Given the description of an element on the screen output the (x, y) to click on. 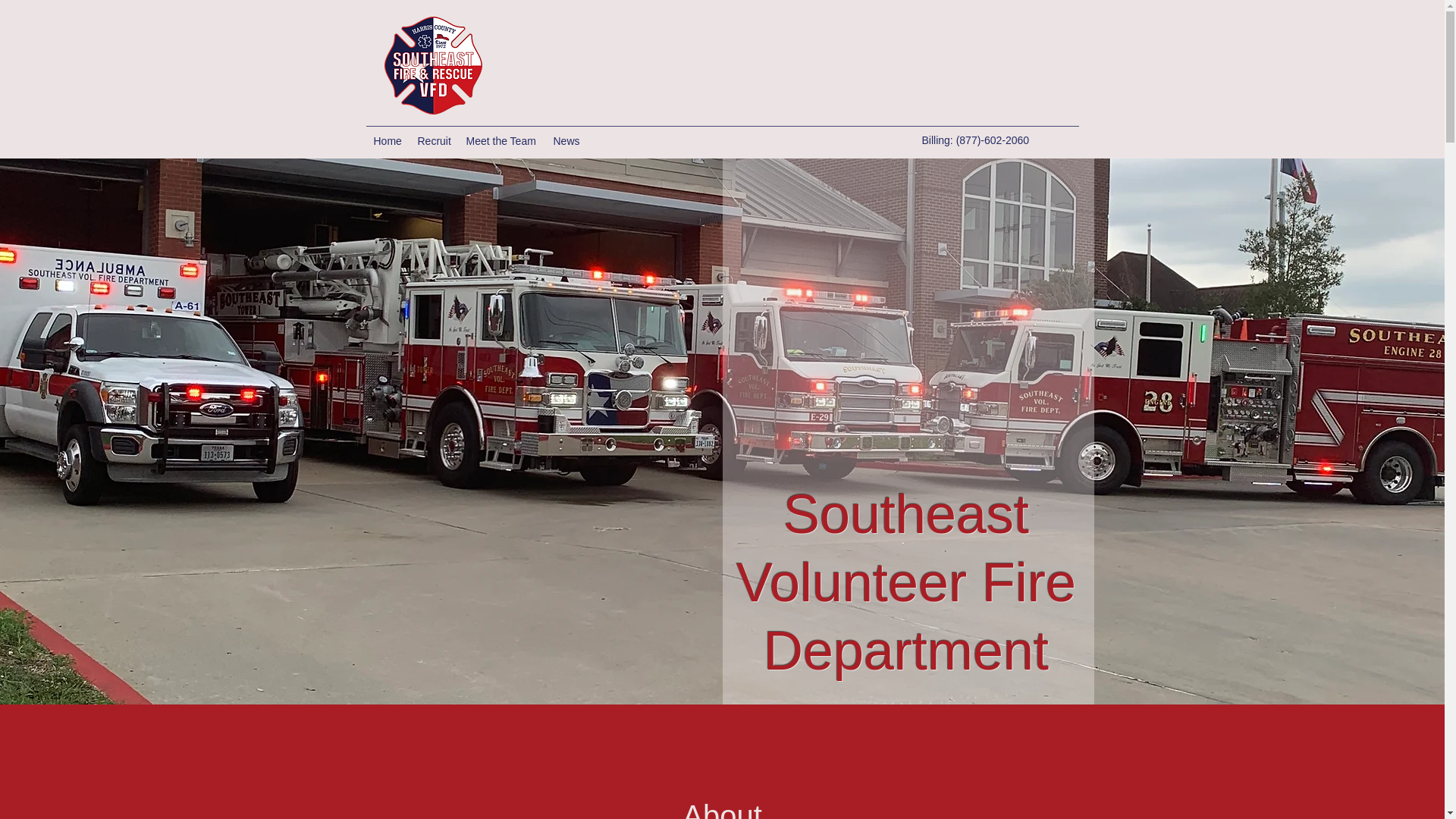
Home (387, 140)
Recruit (433, 140)
Meet the Team (501, 140)
News (567, 140)
